Given the description of an element on the screen output the (x, y) to click on. 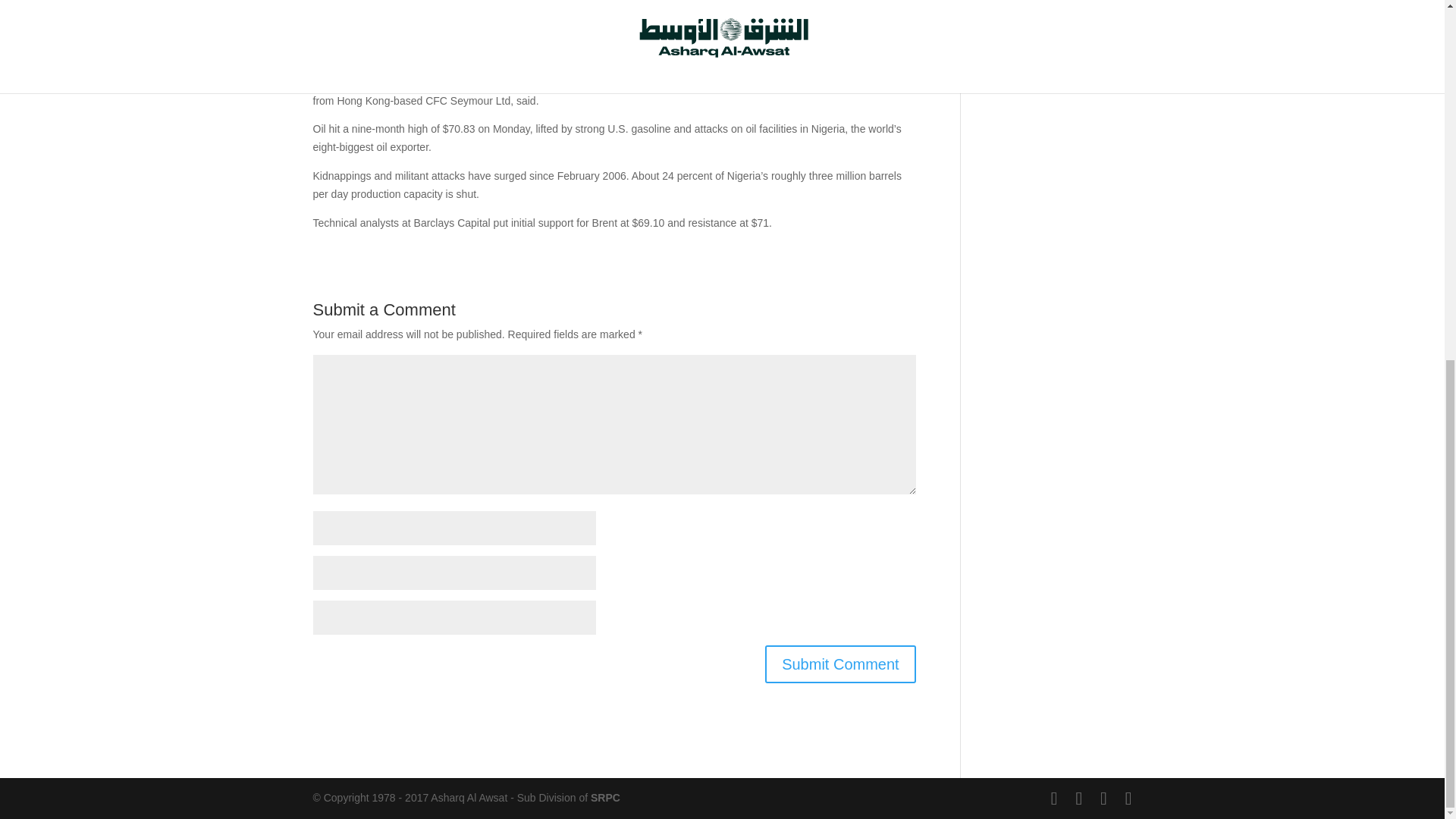
SRPC (605, 797)
Submit Comment (840, 664)
Submit Comment (840, 664)
